Given the description of an element on the screen output the (x, y) to click on. 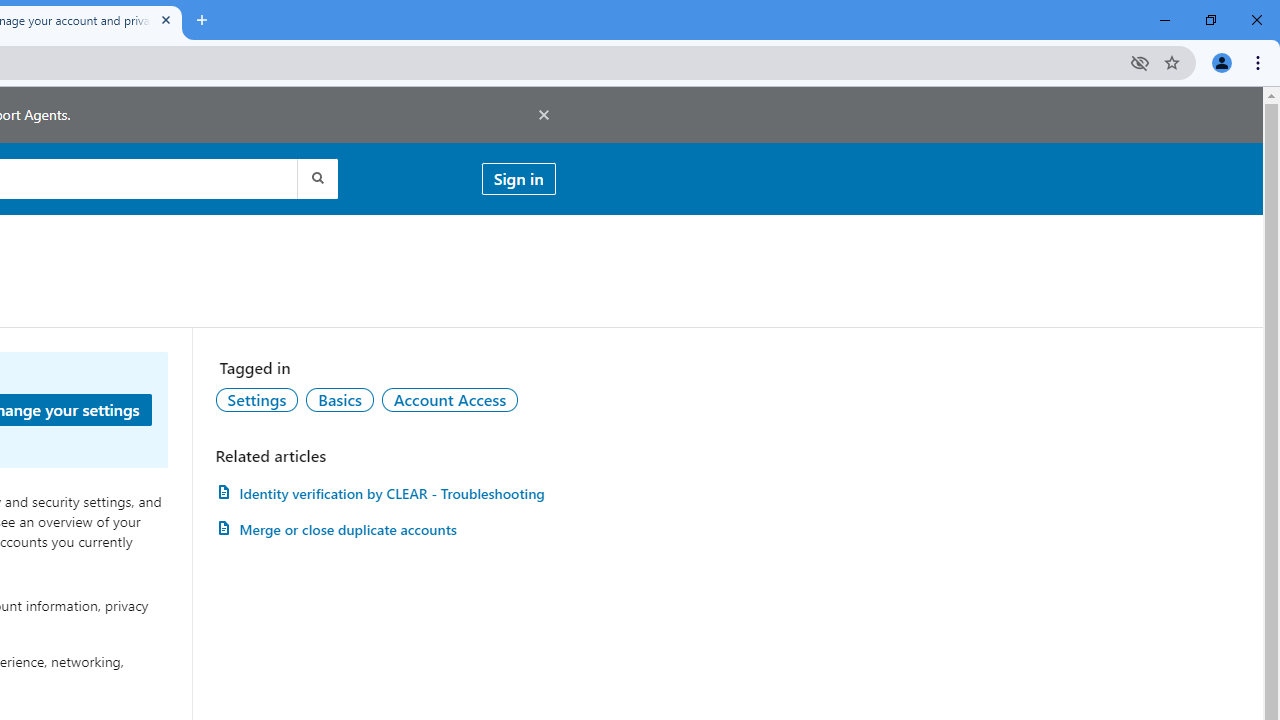
AutomationID: topic-link-a51 (339, 399)
Basics (339, 399)
Third-party cookies blocked (1139, 62)
